Given the description of an element on the screen output the (x, y) to click on. 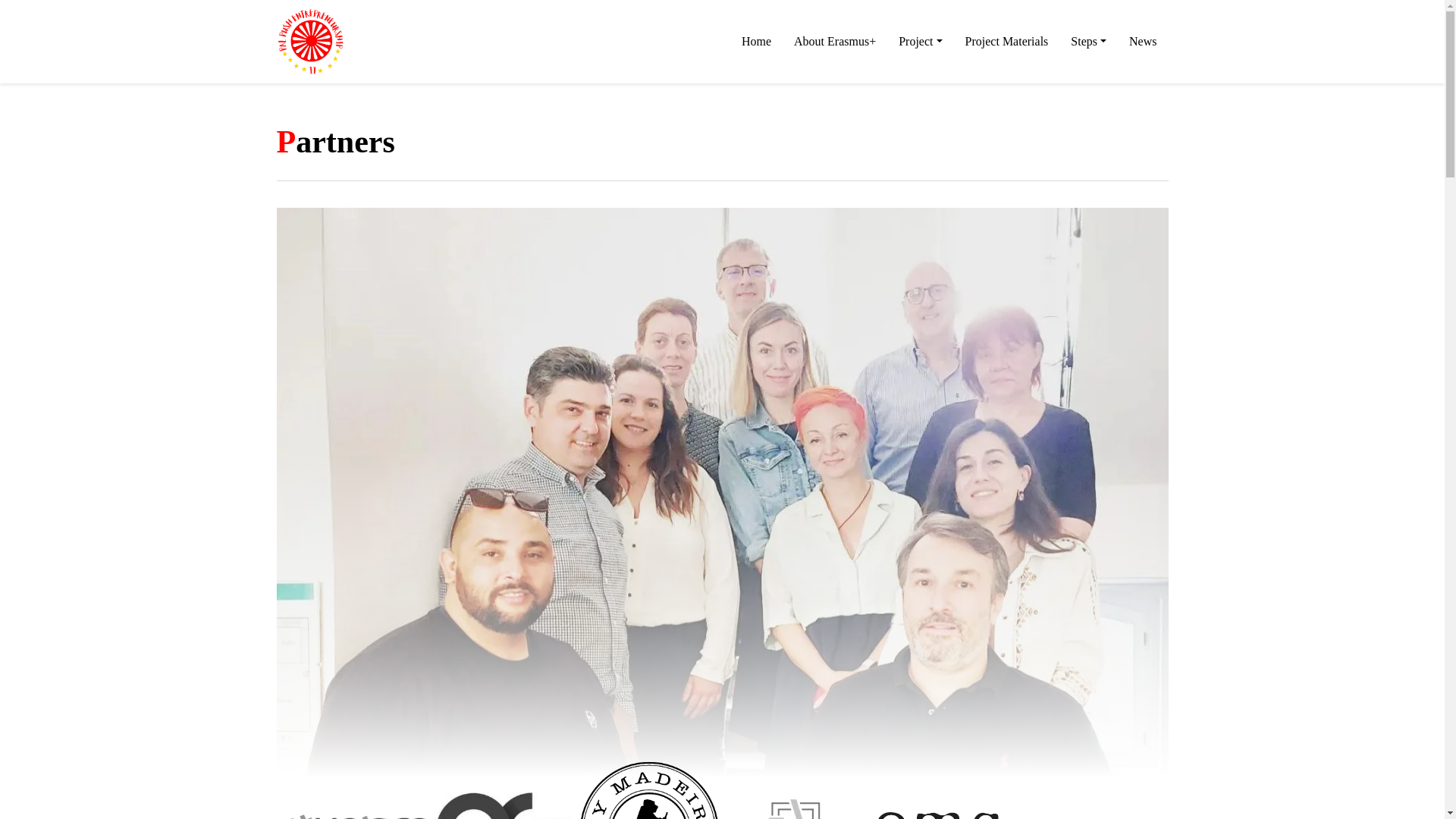
Steps (1088, 40)
Project (919, 40)
Palpush2 (298, 82)
Home (756, 40)
Project Materials (1006, 40)
News (1142, 40)
